Given the description of an element on the screen output the (x, y) to click on. 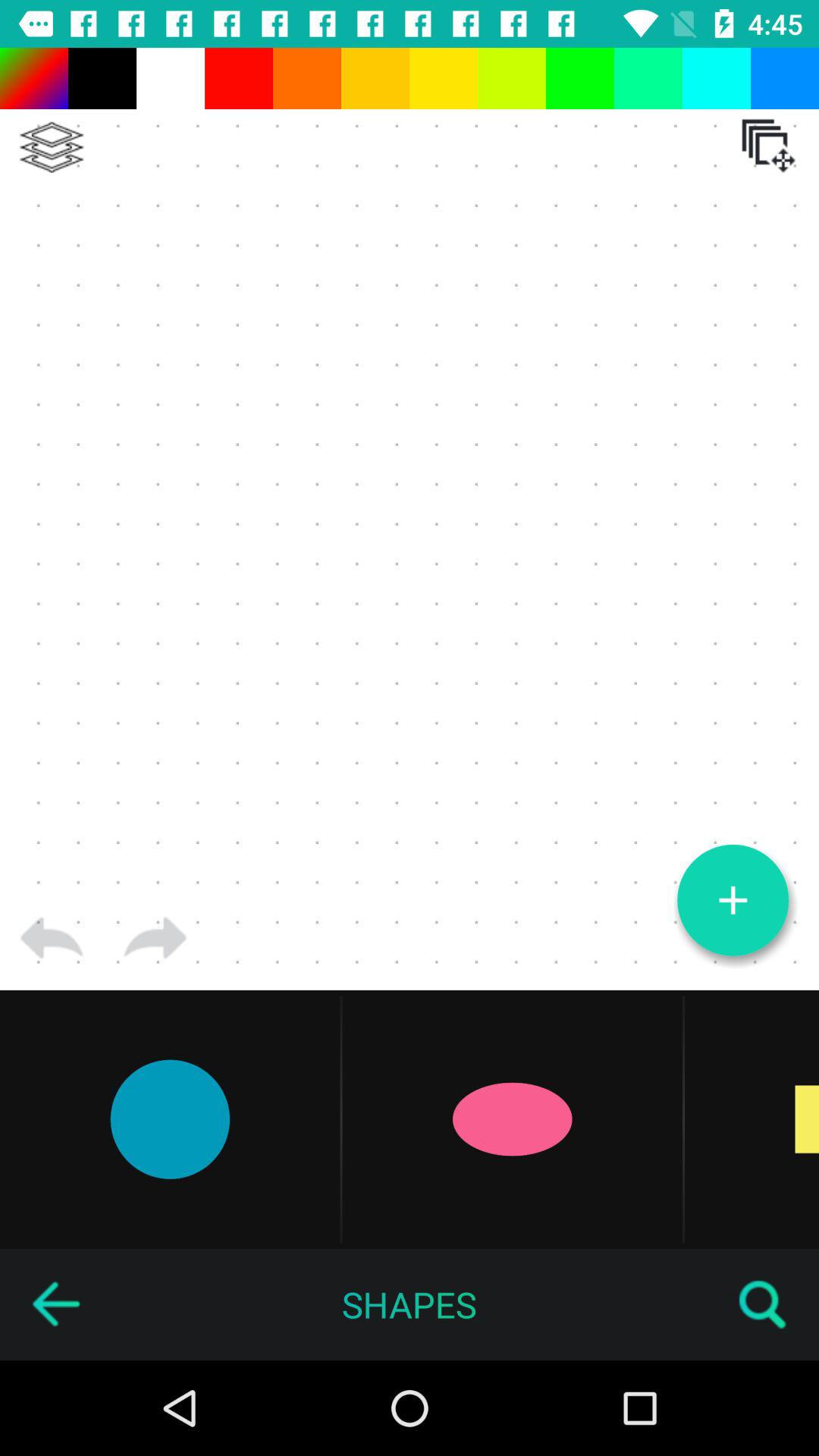
choose the icon to the right of shapes (763, 1304)
